Given the description of an element on the screen output the (x, y) to click on. 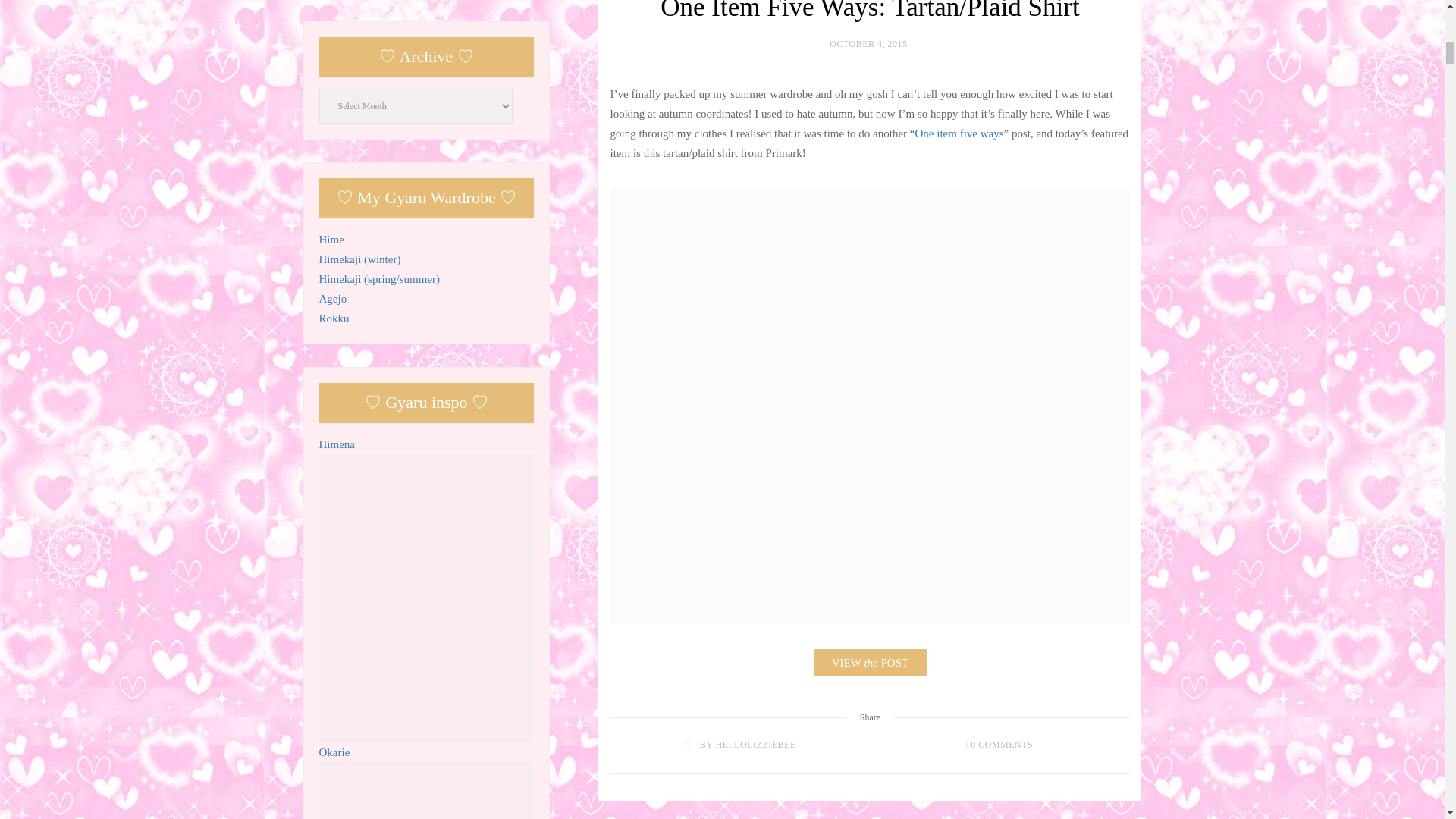
Posts by hellolizziebee (754, 744)
